Given the description of an element on the screen output the (x, y) to click on. 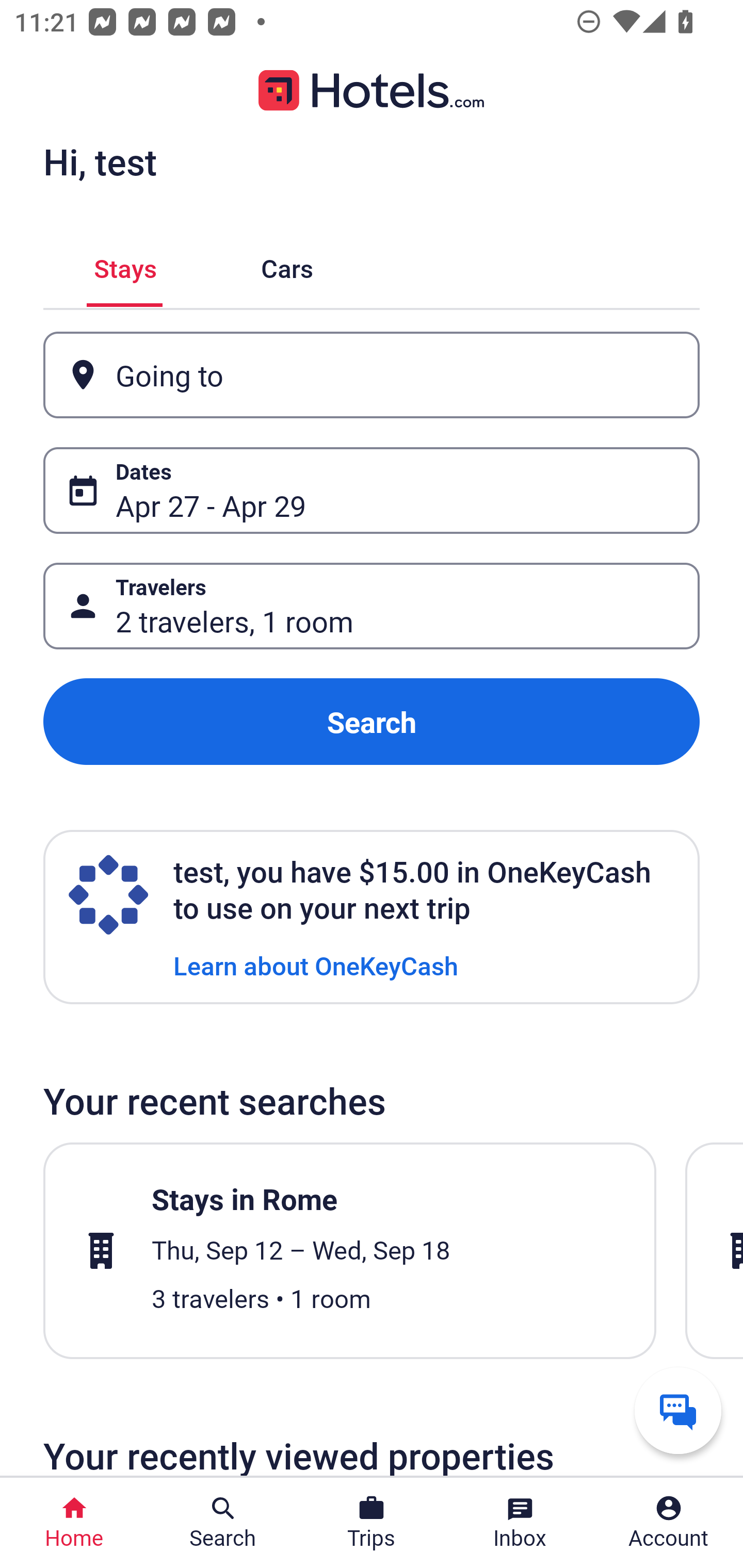
Hi, test (99, 161)
Cars (286, 265)
Going to Button (371, 375)
Dates Button Apr 27 - Apr 29 (371, 489)
Travelers Button 2 travelers, 1 room (371, 605)
Search (371, 721)
Learn about OneKeyCash Learn about OneKeyCash Link (315, 964)
Get help from a virtual agent (677, 1410)
Search Search Button (222, 1522)
Trips Trips Button (371, 1522)
Inbox Inbox Button (519, 1522)
Account Profile. Button (668, 1522)
